Given the description of an element on the screen output the (x, y) to click on. 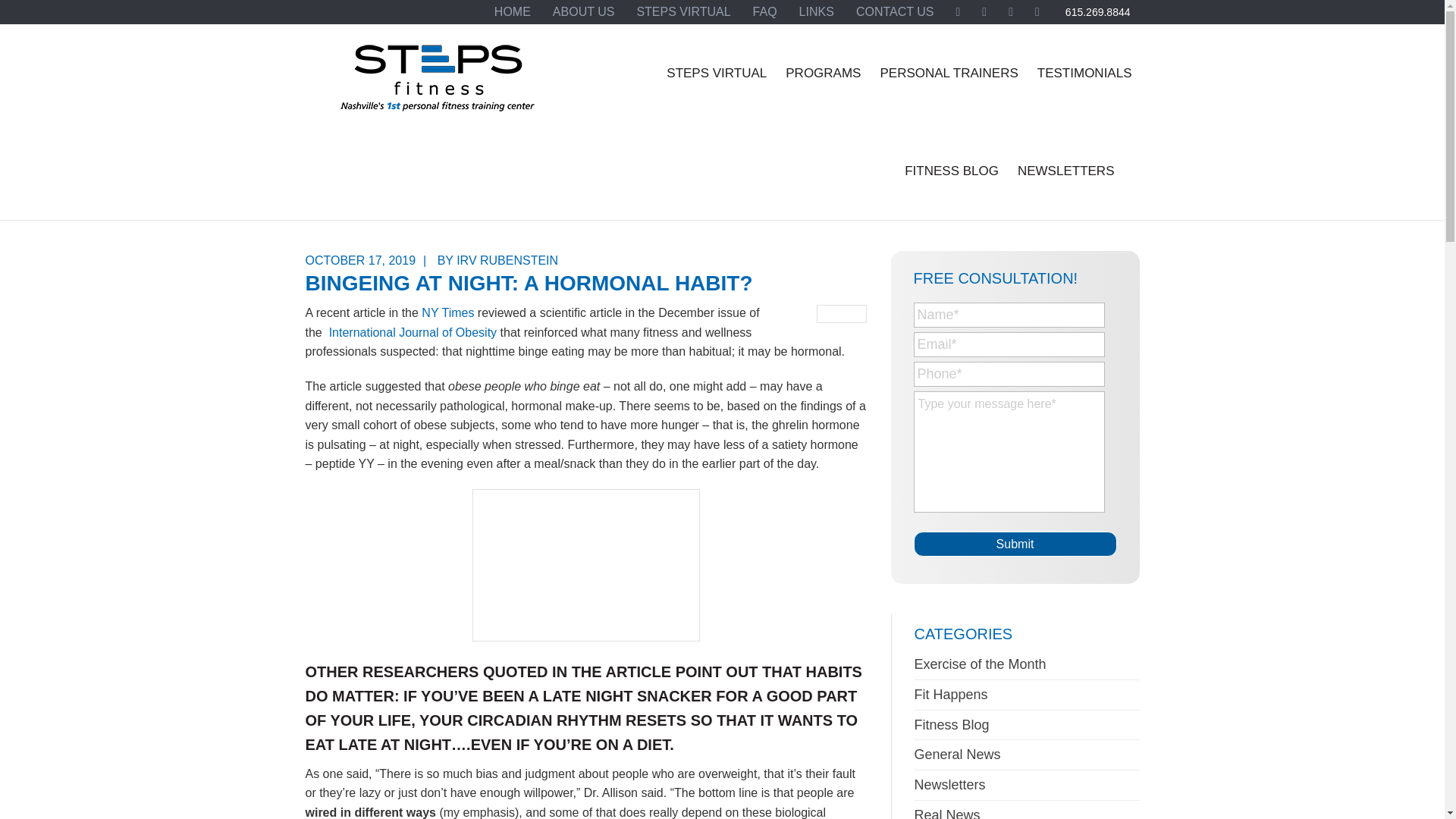
NY Times (448, 312)
International Journal of Obesity (412, 332)
FITNESS BLOG (951, 171)
TESTIMONIALS (1084, 73)
NEWSLETTERS (1066, 171)
615.269.8844 (1098, 11)
STEPS VIRTUAL (716, 73)
Submit (1014, 543)
STEPS FITNESS (437, 84)
ABOUT US (583, 12)
PROGRAMS (822, 73)
HOME (512, 12)
CONTACT US (895, 12)
FAQ (765, 12)
